Given the description of an element on the screen output the (x, y) to click on. 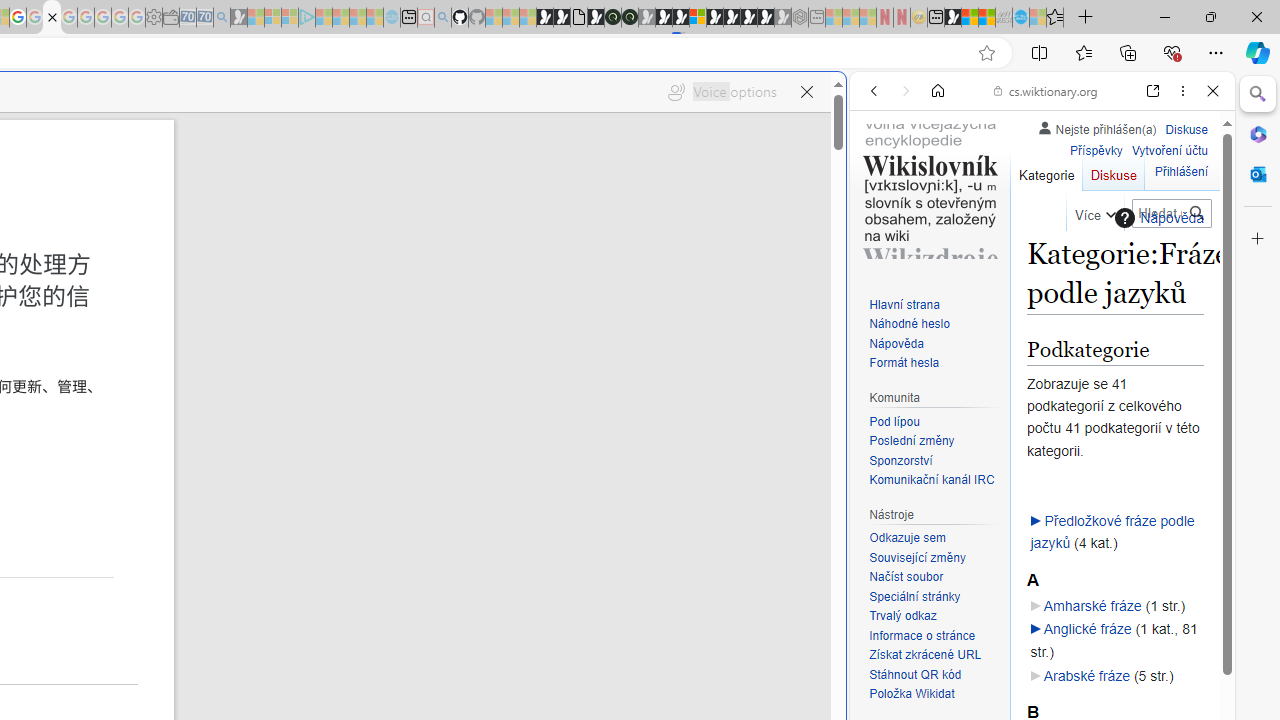
google_privacy_policy_zh-CN.pdf (51, 17)
Hledat (1196, 213)
Settings - Sleeping (153, 17)
rozbalit (1035, 629)
Forward (906, 91)
Close split screen (844, 102)
Wallet - Sleeping (170, 17)
Play Cave FRVR in your browser | Games from Microsoft Start (343, 426)
Global web icon (888, 669)
